Given the description of an element on the screen output the (x, y) to click on. 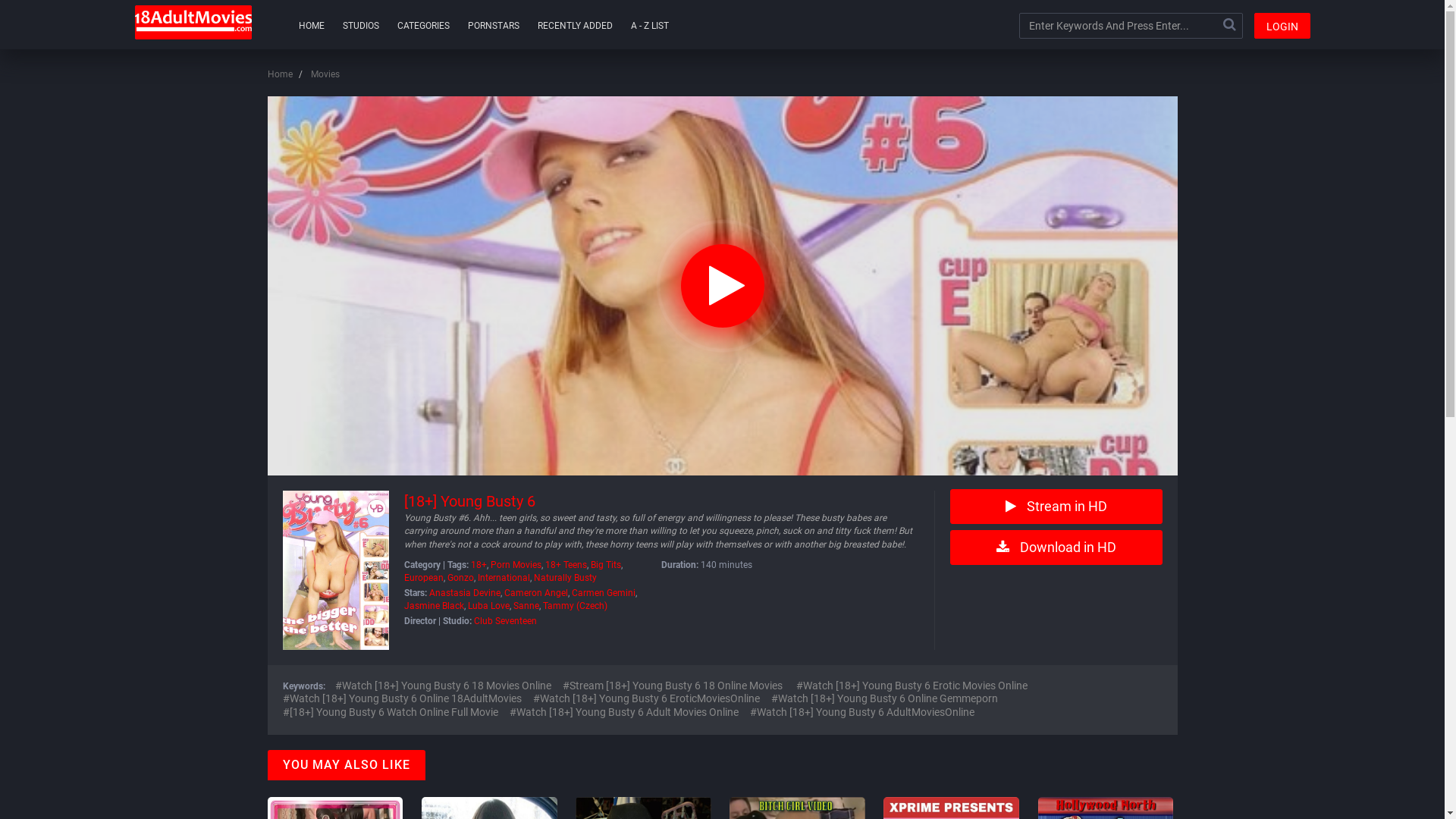
Watch [18+] Young Busty 6 Adult Movies Online Element type: text (623, 712)
Watch [18+] Young Busty 6 EroticMoviesOnline Element type: text (645, 698)
18AdultMovies Element type: hover (192, 22)
Watch [18+] Young Busty 6 Erotic Movies Online Element type: text (911, 685)
STUDIOS Element type: text (359, 25)
Stream [18+] Young Busty 6 18 Online Movies Element type: text (672, 685)
[18+] Young Busty 6 Watch Online Full Movie Element type: text (389, 712)
Club Seventeen Element type: text (504, 620)
Tammy (Czech) Element type: text (574, 605)
Download in HD Element type: text (1055, 547)
A - Z LIST Element type: text (648, 25)
Home Element type: text (278, 74)
Cameron Angel Element type: text (535, 592)
Carmen Gemini Element type: text (603, 592)
CATEGORIES Element type: text (422, 25)
Watch [18+] Young Busty 6 18 Movies Online Element type: text (443, 685)
European Element type: text (422, 577)
Sanne Element type: text (525, 605)
HOME Element type: text (310, 25)
Jasmine Black Element type: text (433, 605)
PORNSTARS Element type: text (493, 25)
Movies Element type: text (324, 74)
Search Element type: hover (1229, 25)
International Element type: text (503, 577)
Big Tits Element type: text (604, 564)
Naturally Busty Element type: text (564, 577)
Watch [18+] Young Busty 6 Online Free Element type: hover (721, 285)
RECENTLY ADDED Element type: text (575, 25)
LOGIN Element type: text (1282, 25)
Luba Love Element type: text (487, 605)
Porn Movies Element type: text (514, 564)
Anastasia Devine Element type: text (464, 592)
Gonzo Element type: text (460, 577)
18+ Teens Element type: text (565, 564)
18+ Element type: text (478, 564)
Watch [18+] Young Busty 6 Online Gemmeporn Element type: text (883, 698)
Watch [18+] Young Busty 6 AdultMoviesOnline Element type: text (861, 712)
Watch [18+] Young Busty 6 Online 18AdultMovies Element type: text (401, 698)
Stream in HD Element type: text (1055, 506)
